Given the description of an element on the screen output the (x, y) to click on. 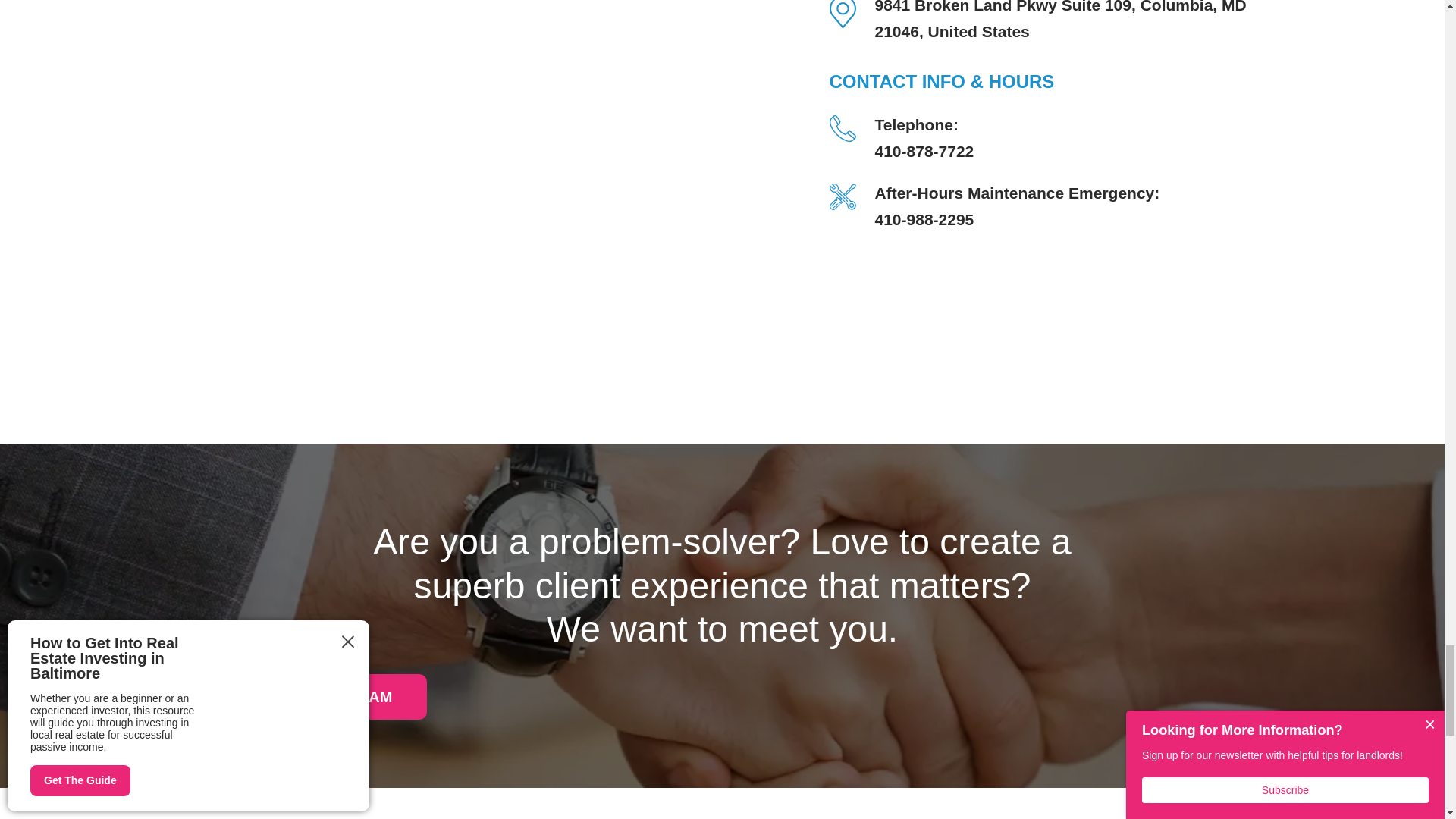
Embedded CTA (330, 696)
